Given the description of an element on the screen output the (x, y) to click on. 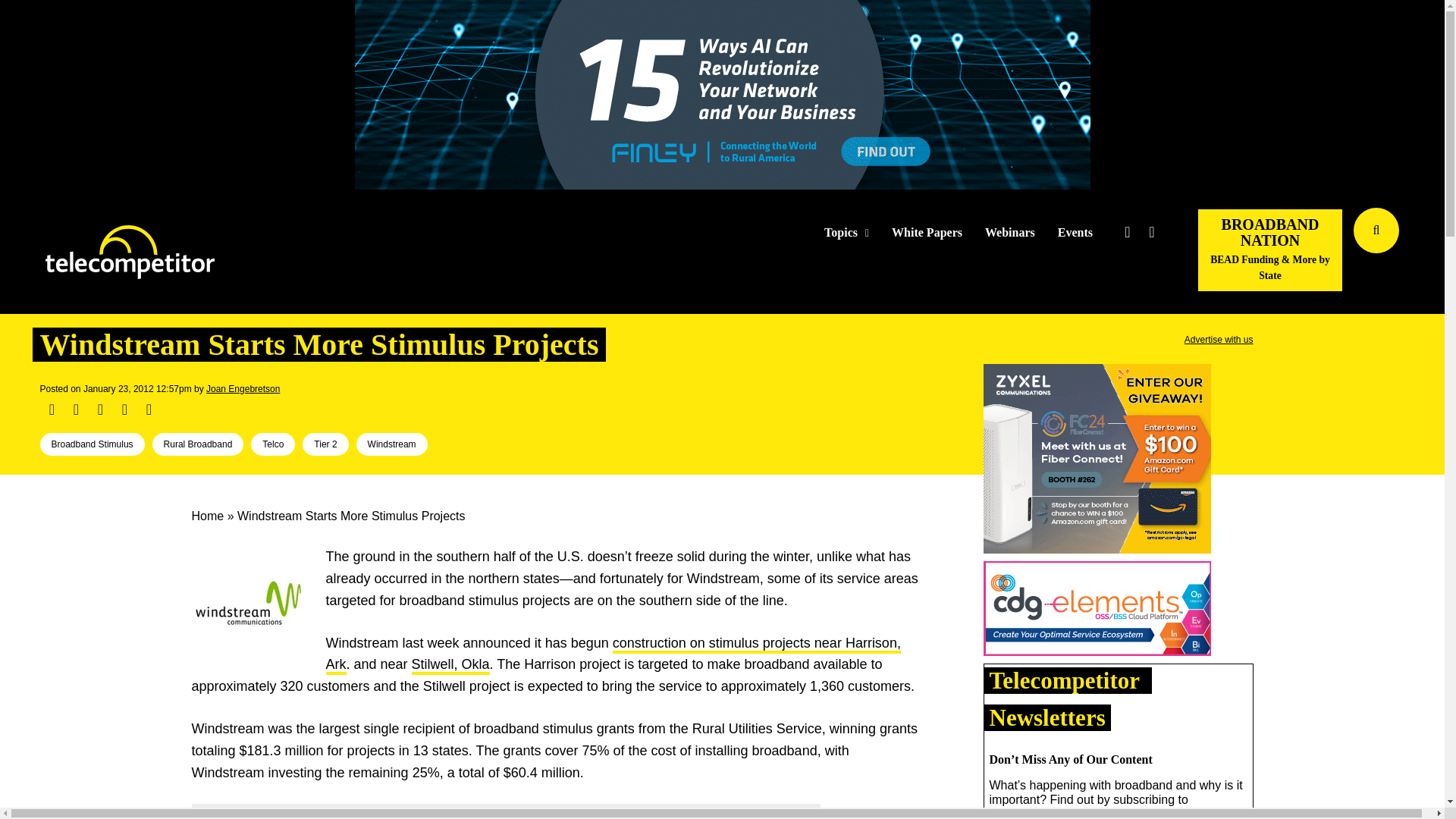
Events (1074, 232)
Share on Facebook (51, 409)
Share on Linked In (99, 409)
Webinars (1010, 232)
Windstream (247, 603)
Search (1430, 253)
Topics (846, 232)
Stilwell, Okla. (450, 665)
White Papers (927, 232)
Follow Us on LinkedIN (1151, 232)
Pinterest (124, 409)
Spread the word on Twitter (75, 409)
Search telecompetitor.com (1376, 230)
construction on stimulus projects near Harrison, Ark (613, 655)
Follow Us on Twitter (1127, 232)
